Given the description of an element on the screen output the (x, y) to click on. 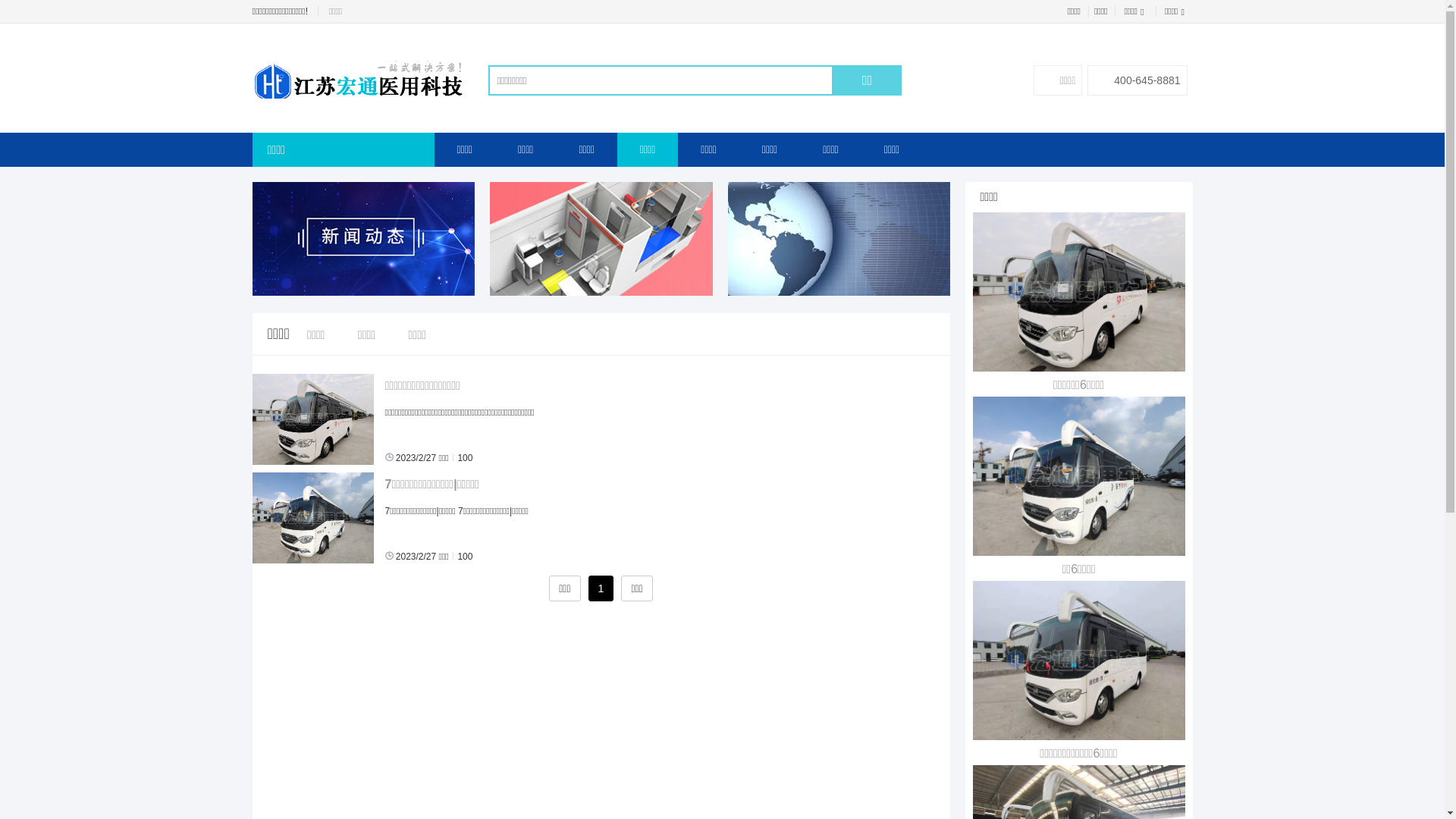
1 Element type: text (601, 588)
